Given the description of an element on the screen output the (x, y) to click on. 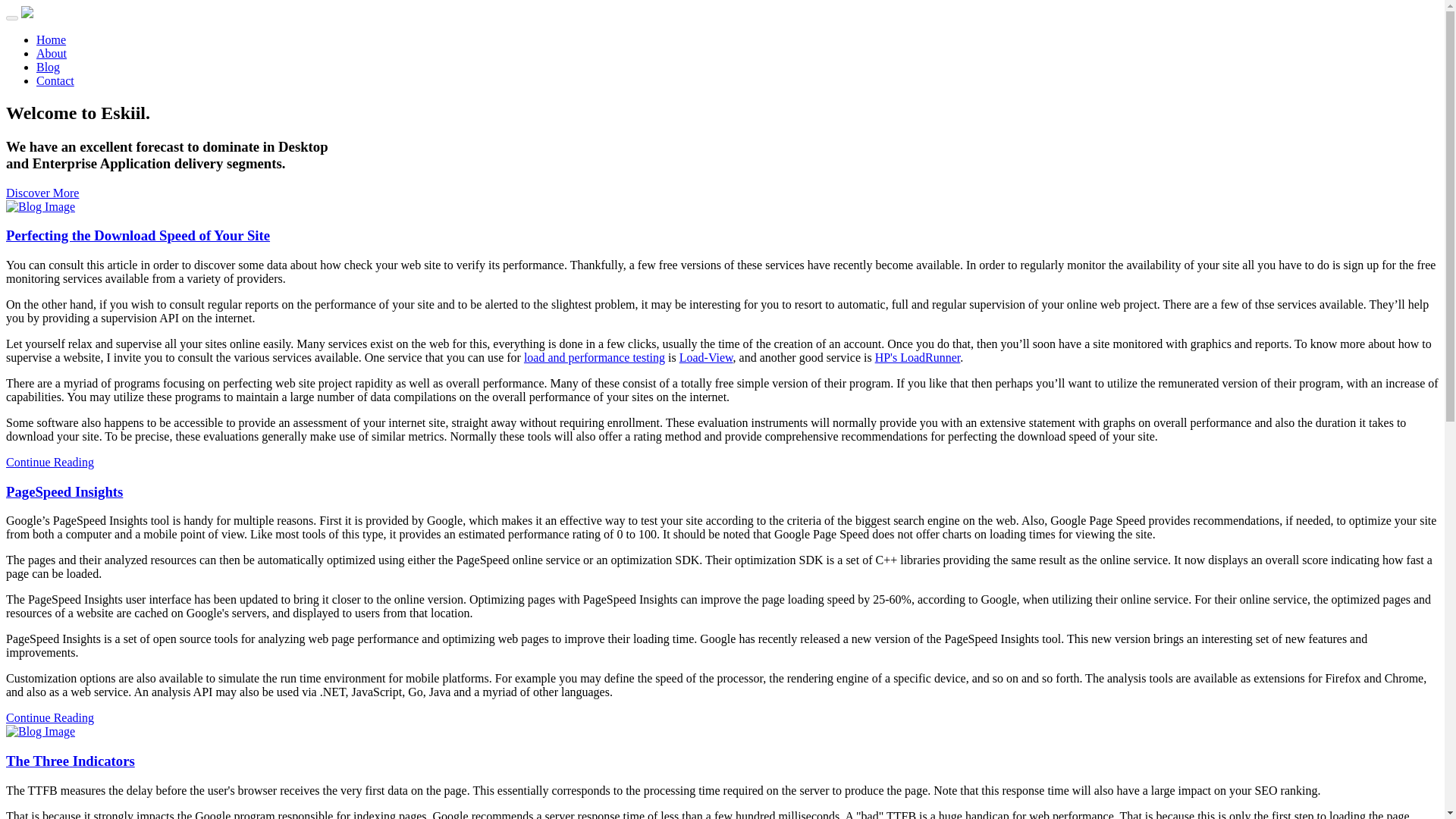
About (51, 52)
Discover More (41, 192)
Contact (55, 80)
Home (50, 39)
Perfecting the Download Speed of Your Site (137, 235)
PageSpeed Insights (63, 491)
Continue Reading (49, 461)
Continue Reading (49, 717)
The Three Indicators (70, 760)
HP's LoadRunner (917, 357)
Load-View (706, 357)
Blog (47, 66)
load and performance testing (594, 357)
